Given the description of an element on the screen output the (x, y) to click on. 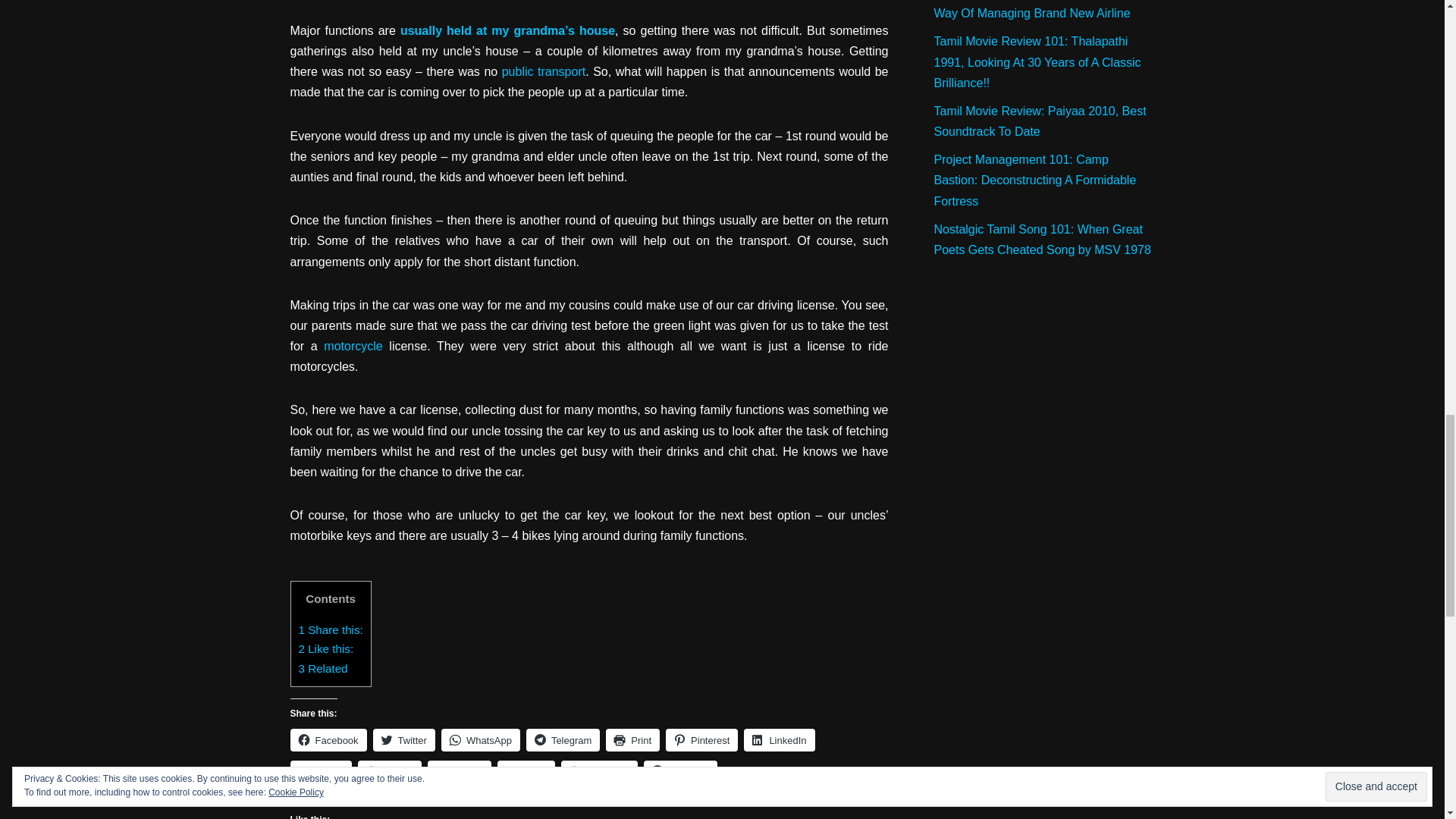
Twitter (403, 739)
1 Share this: (330, 629)
Click to share on Telegram (562, 739)
WhatsApp (480, 739)
Click to share on LinkedIn (778, 739)
public transport (543, 71)
Print (632, 739)
2 Like this: (325, 648)
motorcycle (352, 345)
Click to share on Facebook (327, 739)
LinkedIn (778, 739)
Click to share on Twitter (403, 739)
Pinterest (701, 739)
Click to share on Reddit (320, 771)
Facebook (327, 739)
